Given the description of an element on the screen output the (x, y) to click on. 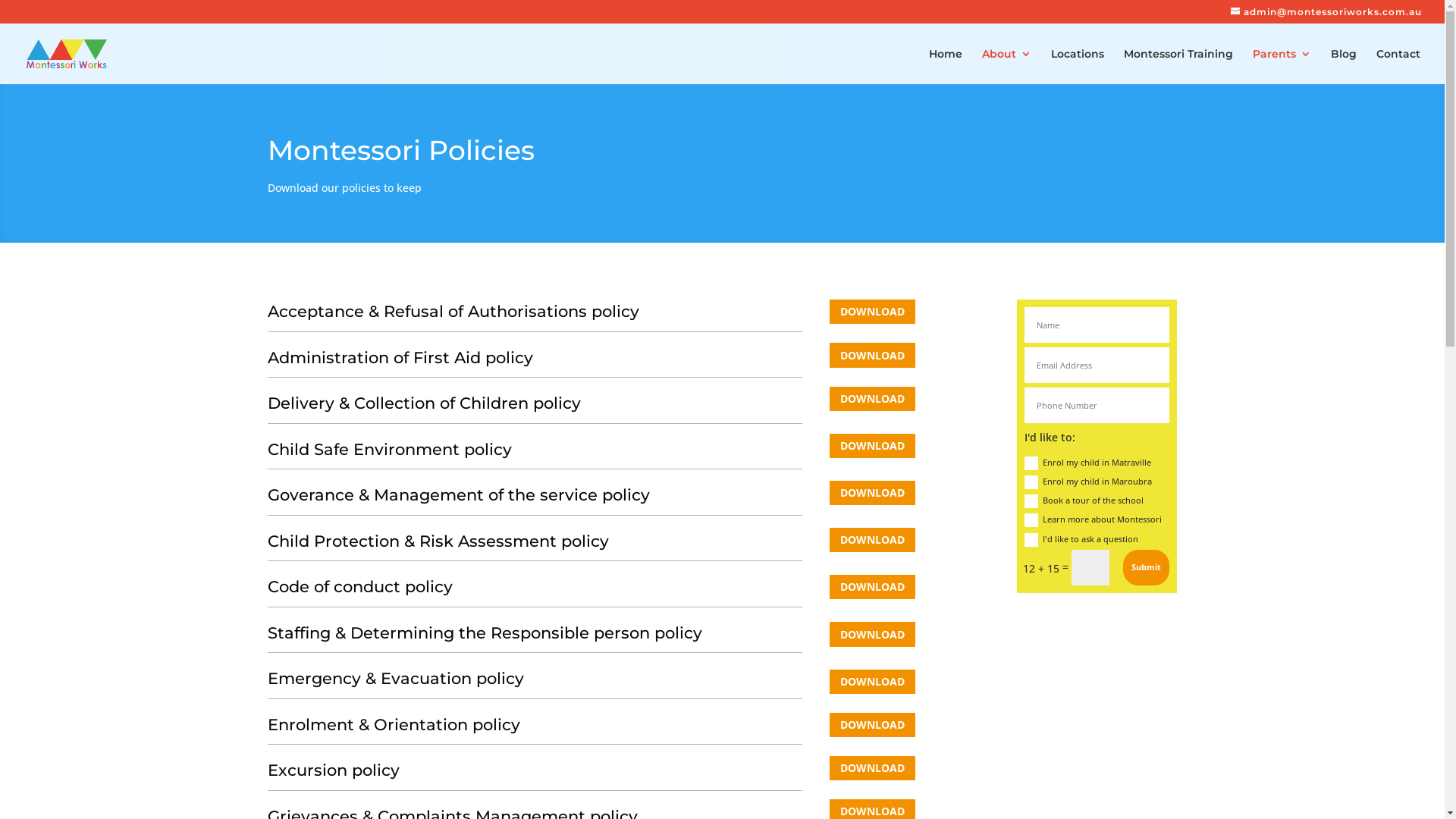
DOWNLOAD Element type: text (872, 724)
DOWNLOAD Element type: text (872, 768)
DOWNLOAD Element type: text (872, 354)
Home Element type: text (945, 66)
DOWNLOAD Element type: text (872, 445)
Blog Element type: text (1343, 66)
DOWNLOAD Element type: text (872, 311)
DOWNLOAD Element type: text (872, 492)
About Element type: text (1006, 66)
DOWNLOAD Element type: text (872, 398)
Parents Element type: text (1281, 66)
Contact Element type: text (1398, 66)
DOWNLOAD Element type: text (872, 586)
admin@montessoriworks.com.au Element type: text (1325, 11)
Submit Element type: text (1146, 567)
Locations Element type: text (1077, 66)
DOWNLOAD Element type: text (872, 681)
Montessori Training Element type: text (1178, 66)
DOWNLOAD Element type: text (872, 633)
DOWNLOAD Element type: text (872, 539)
